Given the description of an element on the screen output the (x, y) to click on. 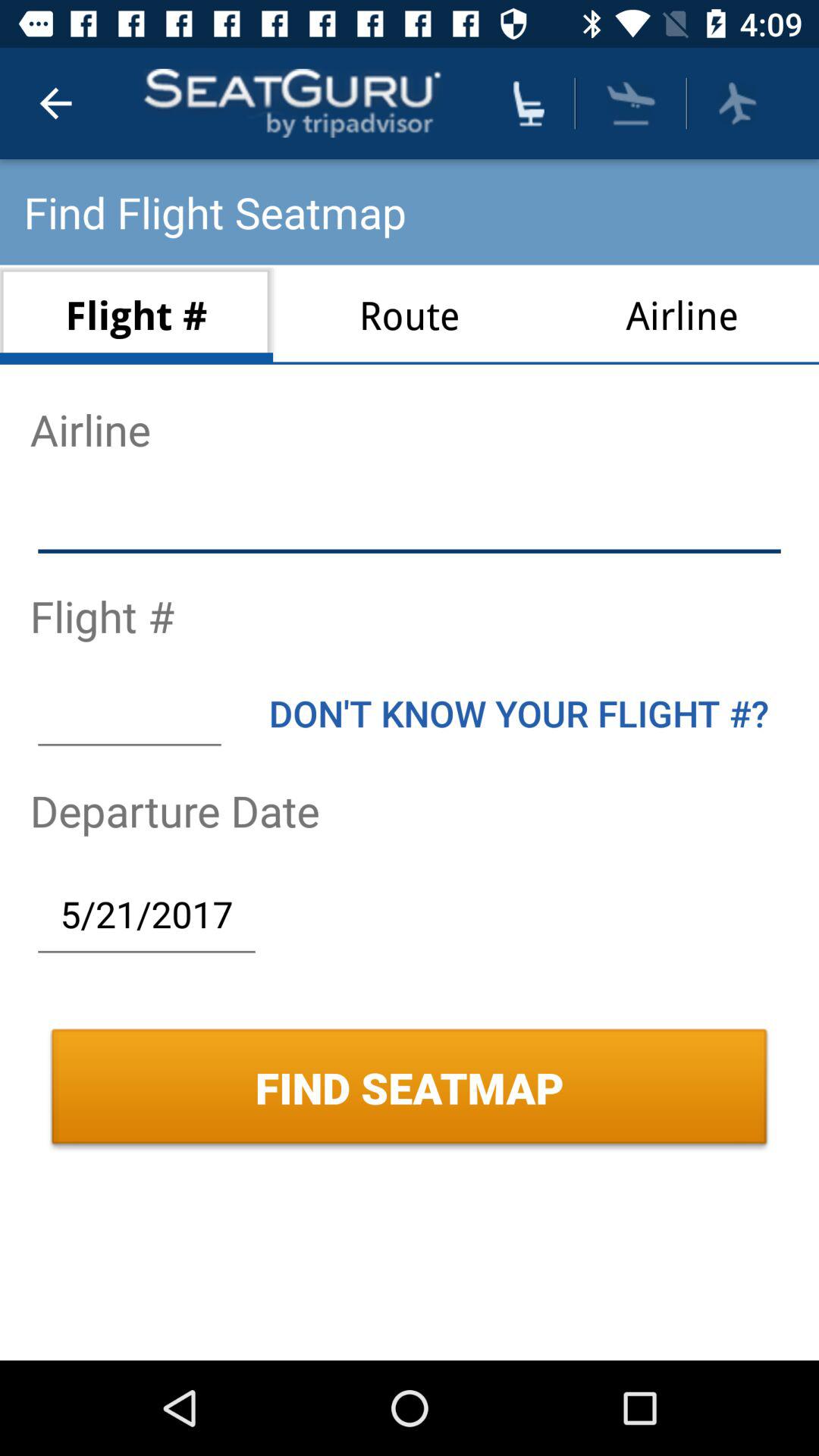
tap icon below the find flight seatmap (409, 314)
